Given the description of an element on the screen output the (x, y) to click on. 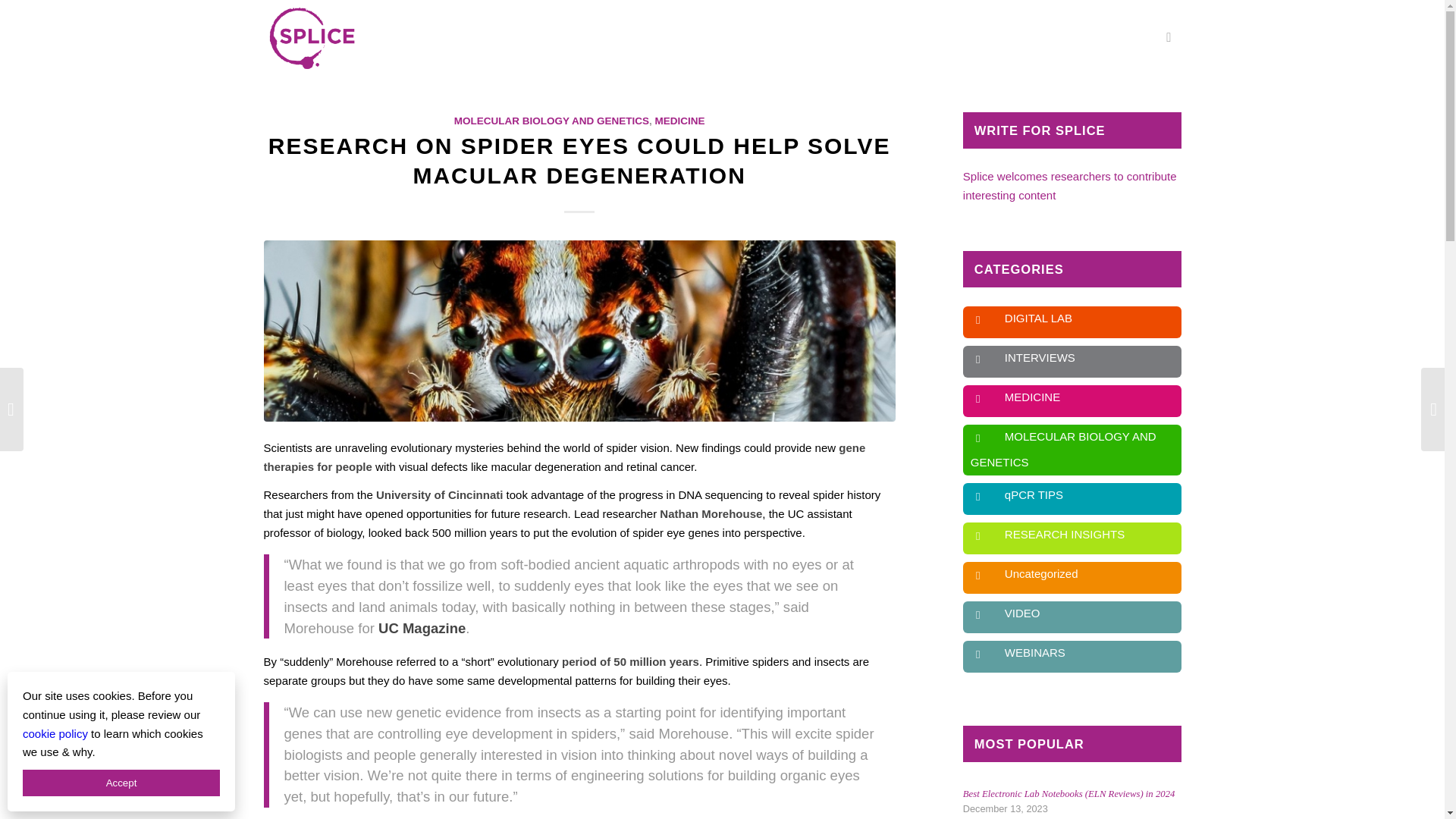
Nathan Morehouse (710, 513)
MEDICINE (679, 120)
UC Magazine (421, 627)
University of Cincinnati (439, 494)
jumping spider eyes (579, 330)
MOLECULAR BIOLOGY AND GENETICS (551, 120)
